Given the description of an element on the screen output the (x, y) to click on. 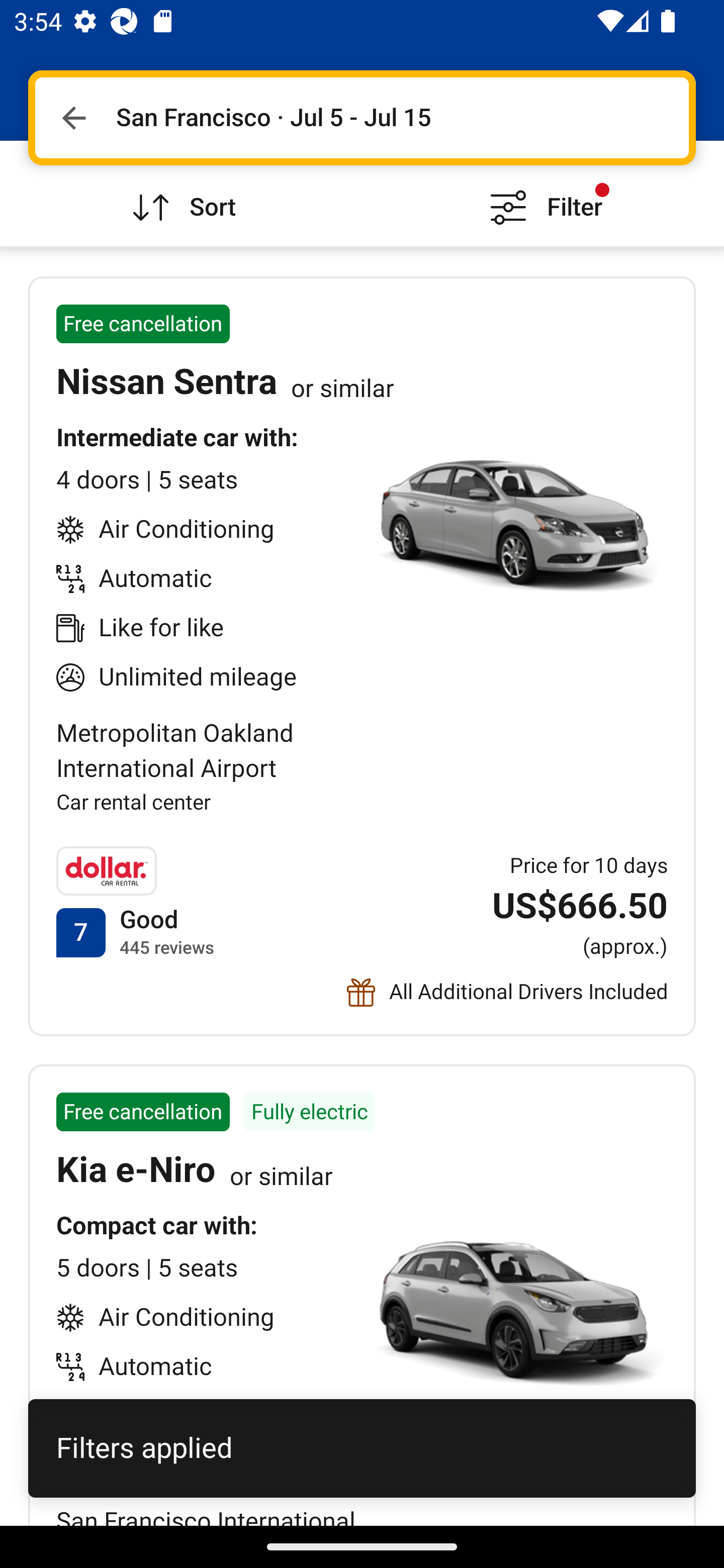
Back to previous screen (73, 117)
Sort (181, 193)
Filter (543, 193)
